Given the description of an element on the screen output the (x, y) to click on. 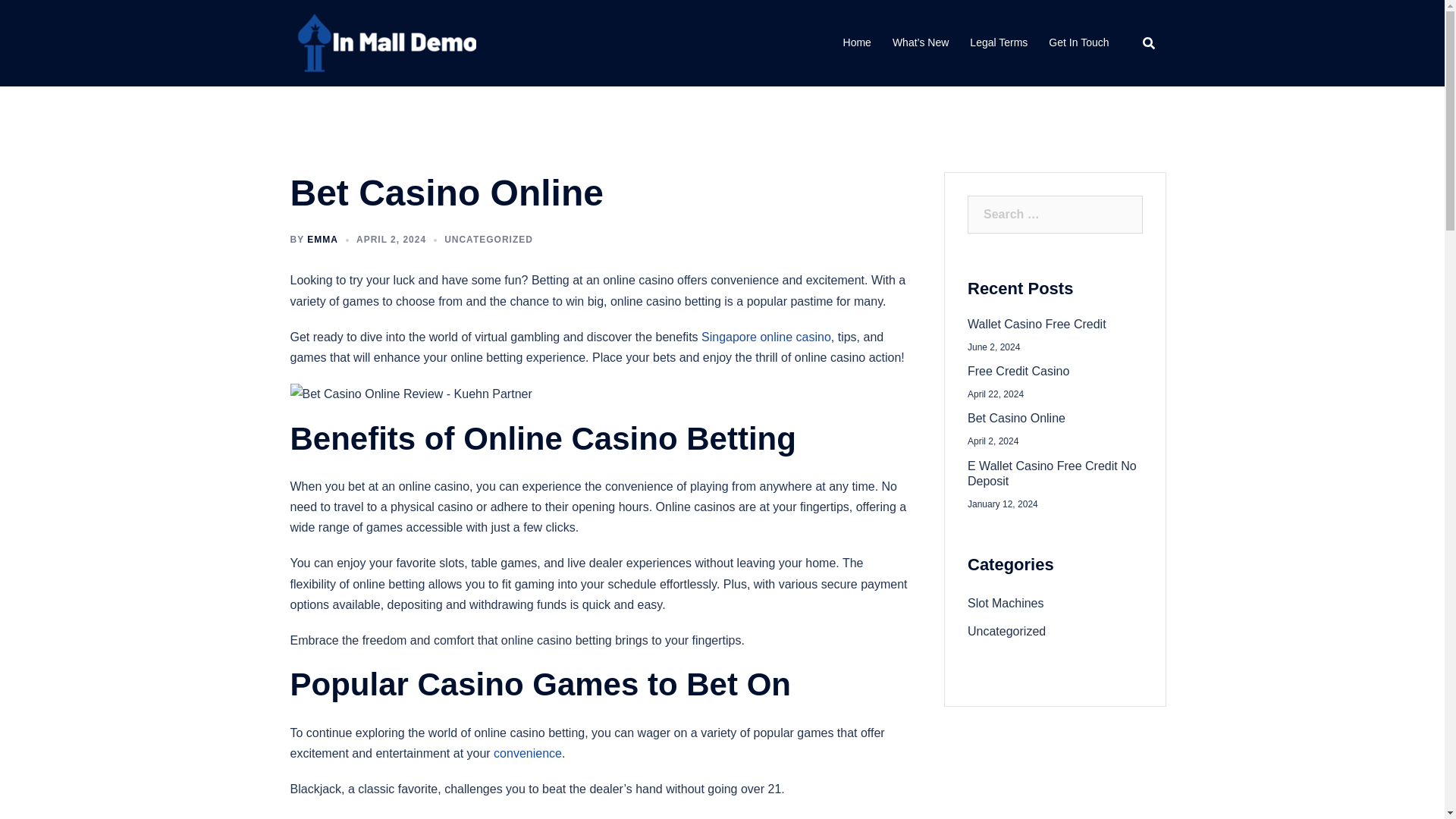
Wallet Casino Free Credit (1055, 324)
E Wallet Casino Free Credit No Deposit (1055, 473)
Uncategorized (1006, 631)
Slot Machines (1005, 603)
Get In Touch (1078, 43)
Legal Terms (998, 43)
In Mall Demo (382, 42)
Singapore online casino (766, 336)
EMMA (322, 239)
UNCATEGORIZED (488, 239)
